Given the description of an element on the screen output the (x, y) to click on. 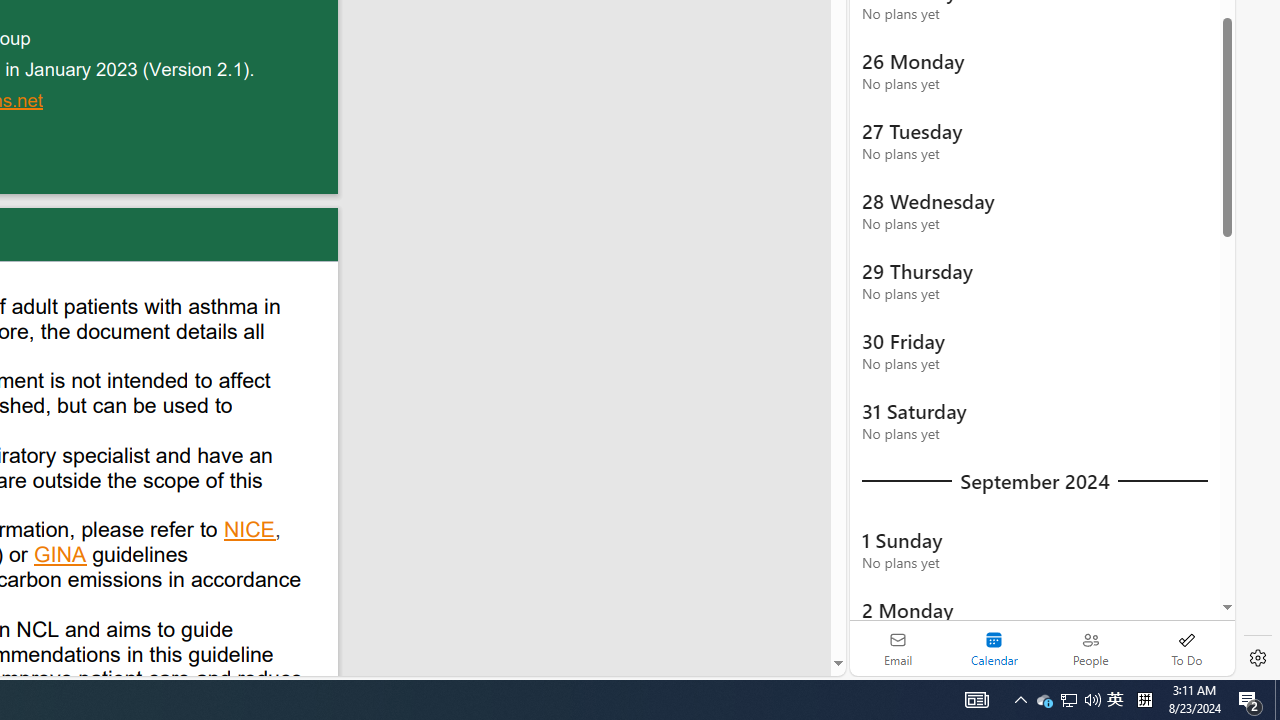
NICE (250, 532)
People (1090, 648)
Selected calendar module. Date today is 22 (994, 648)
GINA  (61, 557)
Email (898, 648)
To Do (1186, 648)
